Given the description of an element on the screen output the (x, y) to click on. 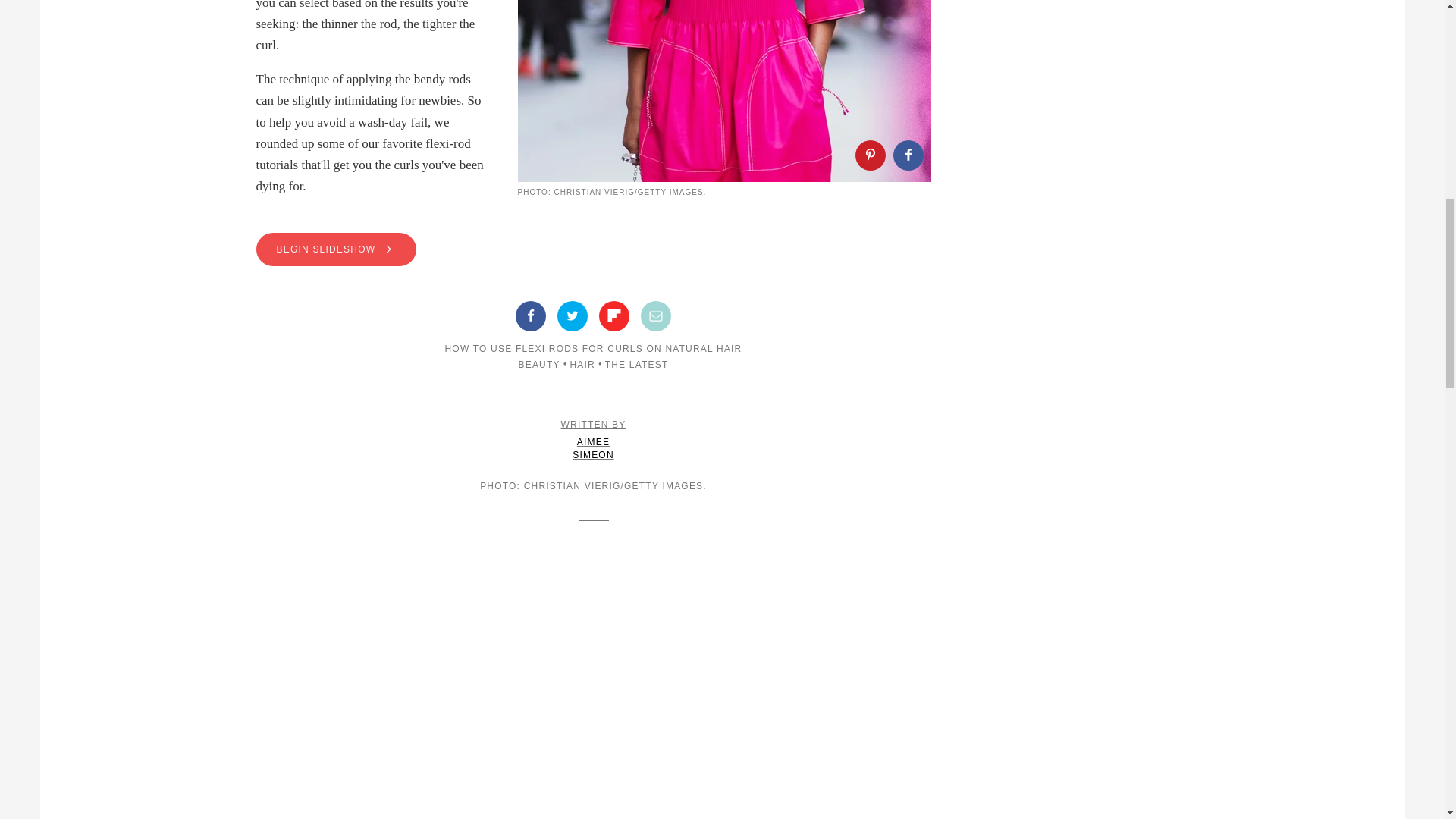
HAIR (581, 364)
BEGIN SLIDESHOW (336, 249)
Share on Twitter (572, 316)
Share on Facebook (908, 155)
Share by Email (655, 316)
BEAUTY (538, 364)
BEGIN SLIDESHOW (593, 249)
Share on Pinterest (870, 155)
Share on Flipboard (594, 440)
THE LATEST (613, 316)
Share on Facebook (636, 364)
